Given the description of an element on the screen output the (x, y) to click on. 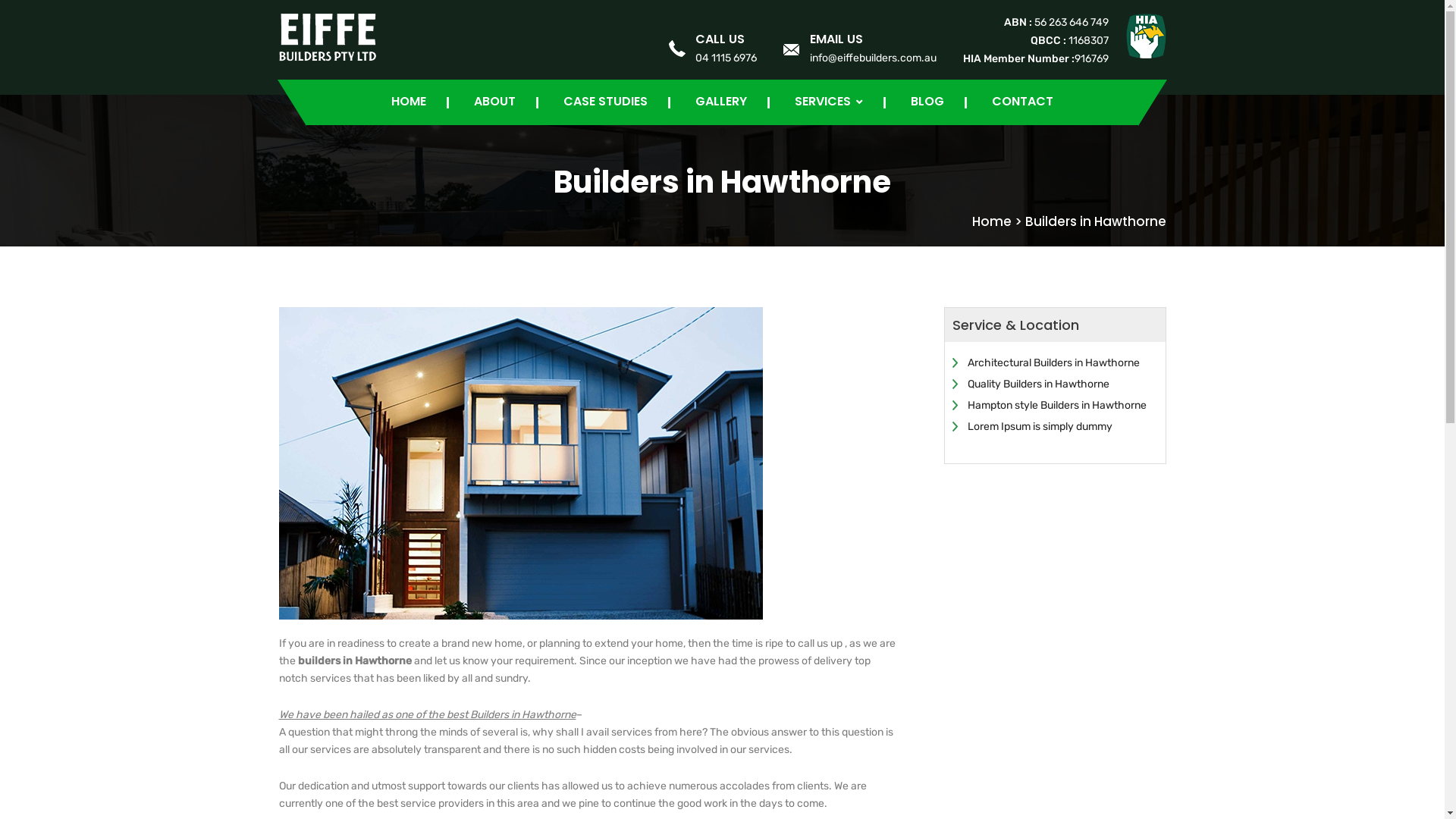
info@eiffebuilders.com.au Element type: text (872, 57)
HOME Element type: text (408, 102)
Builders in Hawthorne Element type: text (1095, 221)
SERVICES Element type: text (828, 102)
Hampton style Builders in Hawthorne Element type: text (1056, 404)
Quality Builders in Hawthorne Element type: text (1038, 383)
Home Element type: text (991, 221)
CONTACT Element type: text (1022, 102)
04 1115 6976 Element type: text (725, 57)
GALLERY Element type: text (720, 102)
BLOG Element type: text (927, 102)
ABOUT Element type: text (494, 102)
Lorem Ipsum is simply dummy Element type: text (1039, 426)
CASE STUDIES Element type: text (605, 102)
Architectural Builders in Hawthorne Element type: text (1053, 362)
